Given the description of an element on the screen output the (x, y) to click on. 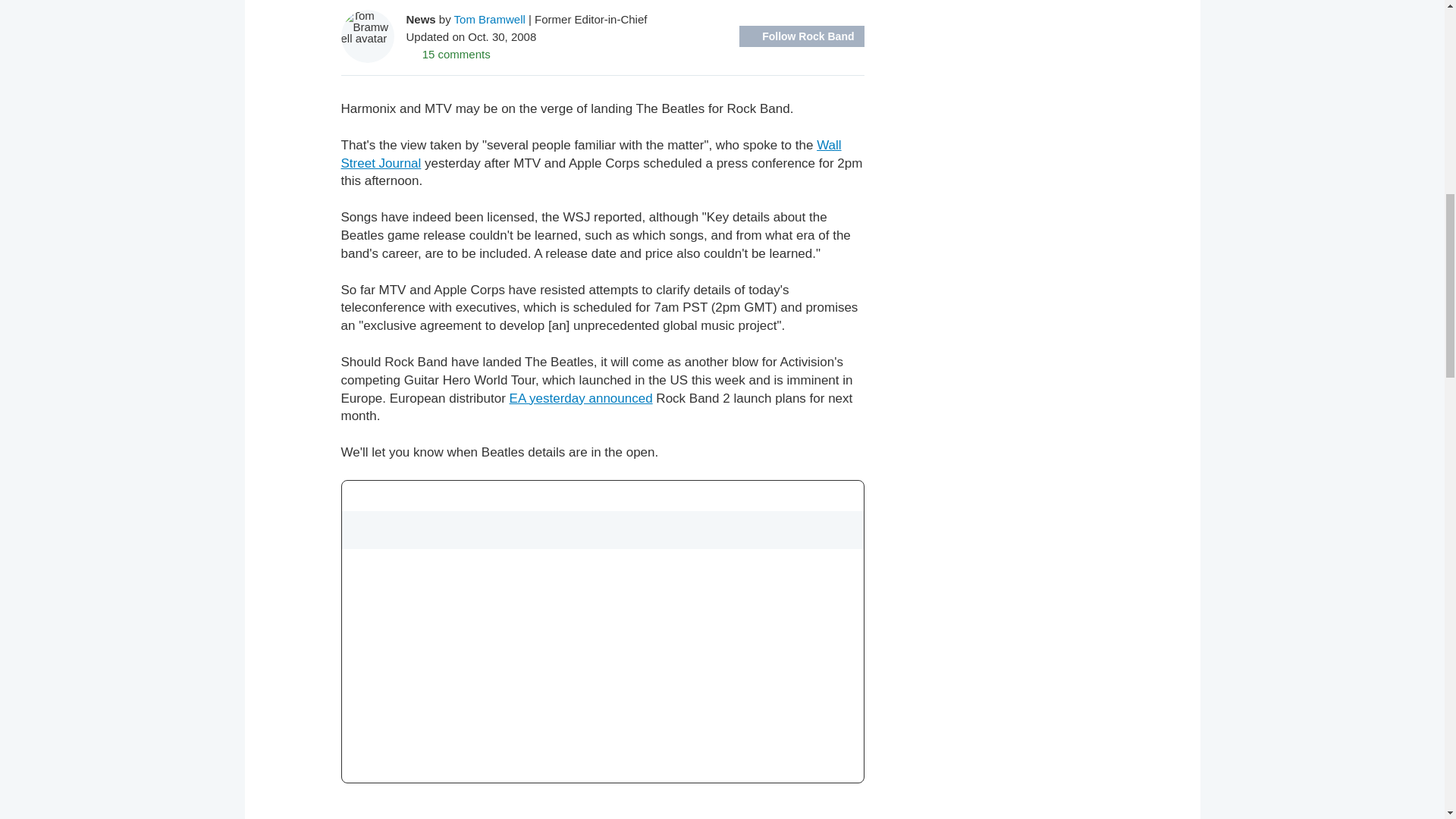
15 comments (448, 52)
Wall Street Journal (590, 154)
Follow Rock Band (801, 35)
Tom Bramwell (489, 18)
Follow Rock Band (801, 35)
EA yesterday announced (580, 398)
